Given the description of an element on the screen output the (x, y) to click on. 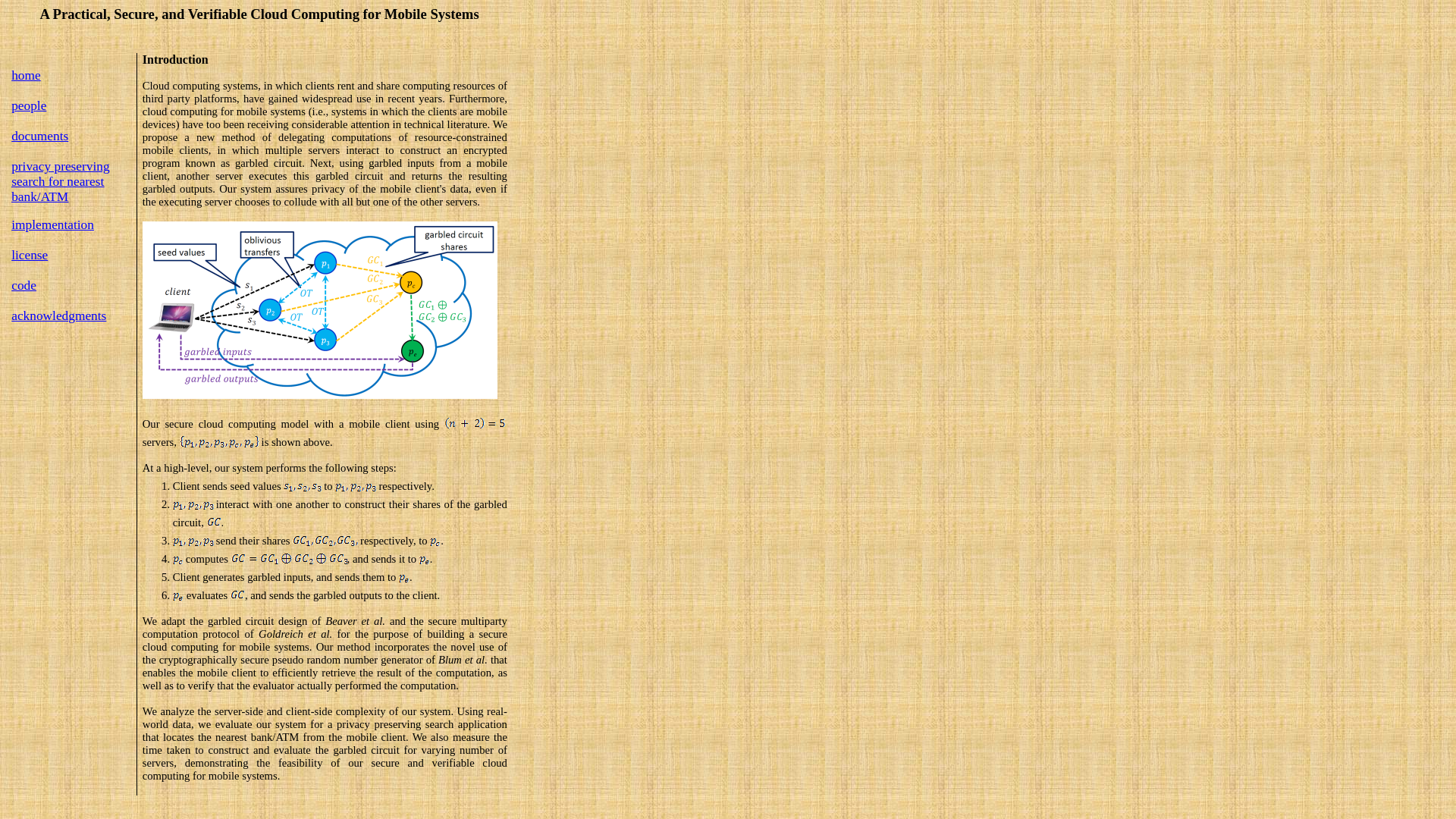
privacy preserving (60, 165)
license (29, 255)
code (23, 285)
documents (39, 136)
acknowledgments (58, 316)
implementation (52, 224)
home (25, 75)
people (28, 105)
